Given the description of an element on the screen output the (x, y) to click on. 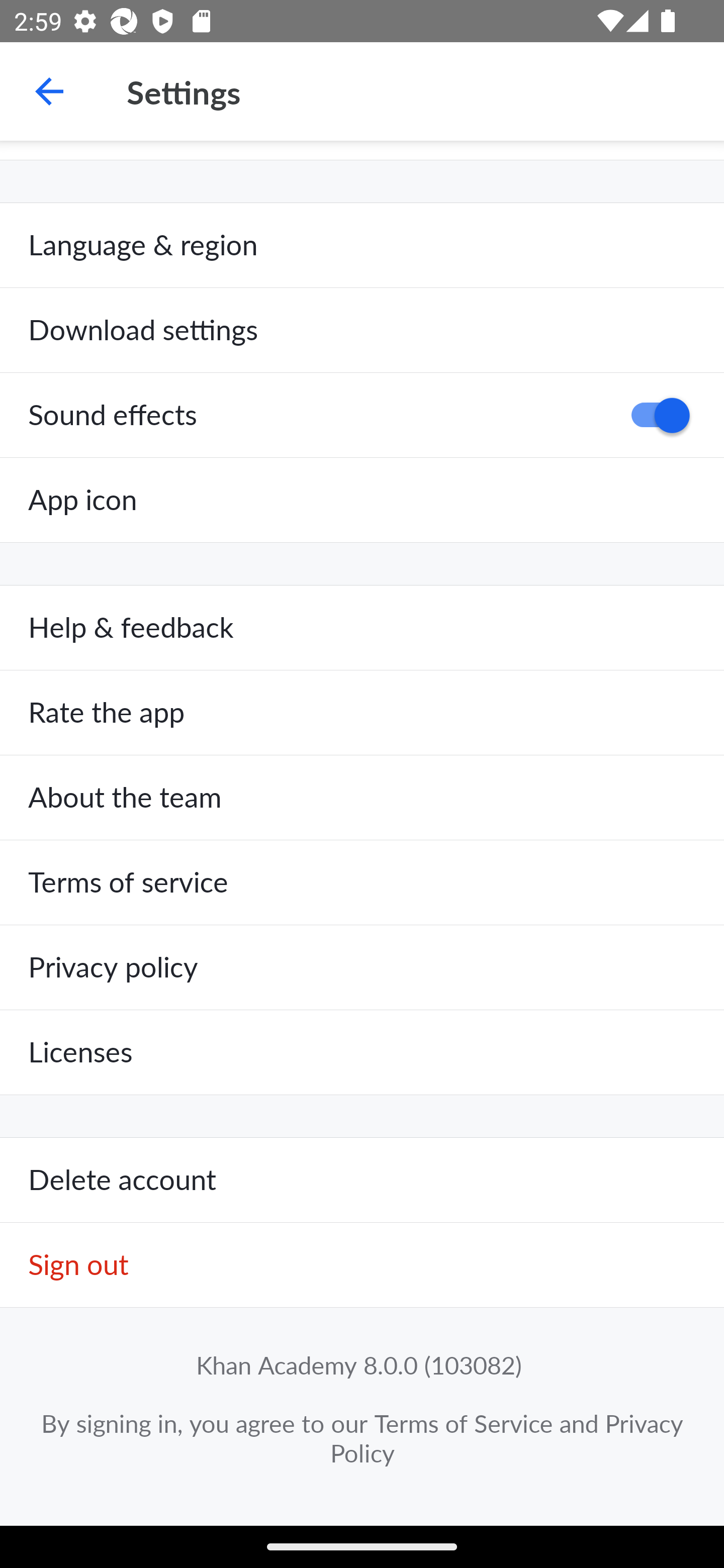
Navigate up (49, 91)
Language & region (362, 245)
Download settings (362, 330)
ON (653, 415)
App icon (362, 499)
Help & feedback (362, 627)
Rate the app (362, 713)
About the team (362, 797)
Terms of service (362, 882)
Privacy policy (362, 967)
Licenses (362, 1051)
Delete account (362, 1180)
Sign out (362, 1265)
